Given the description of an element on the screen output the (x, y) to click on. 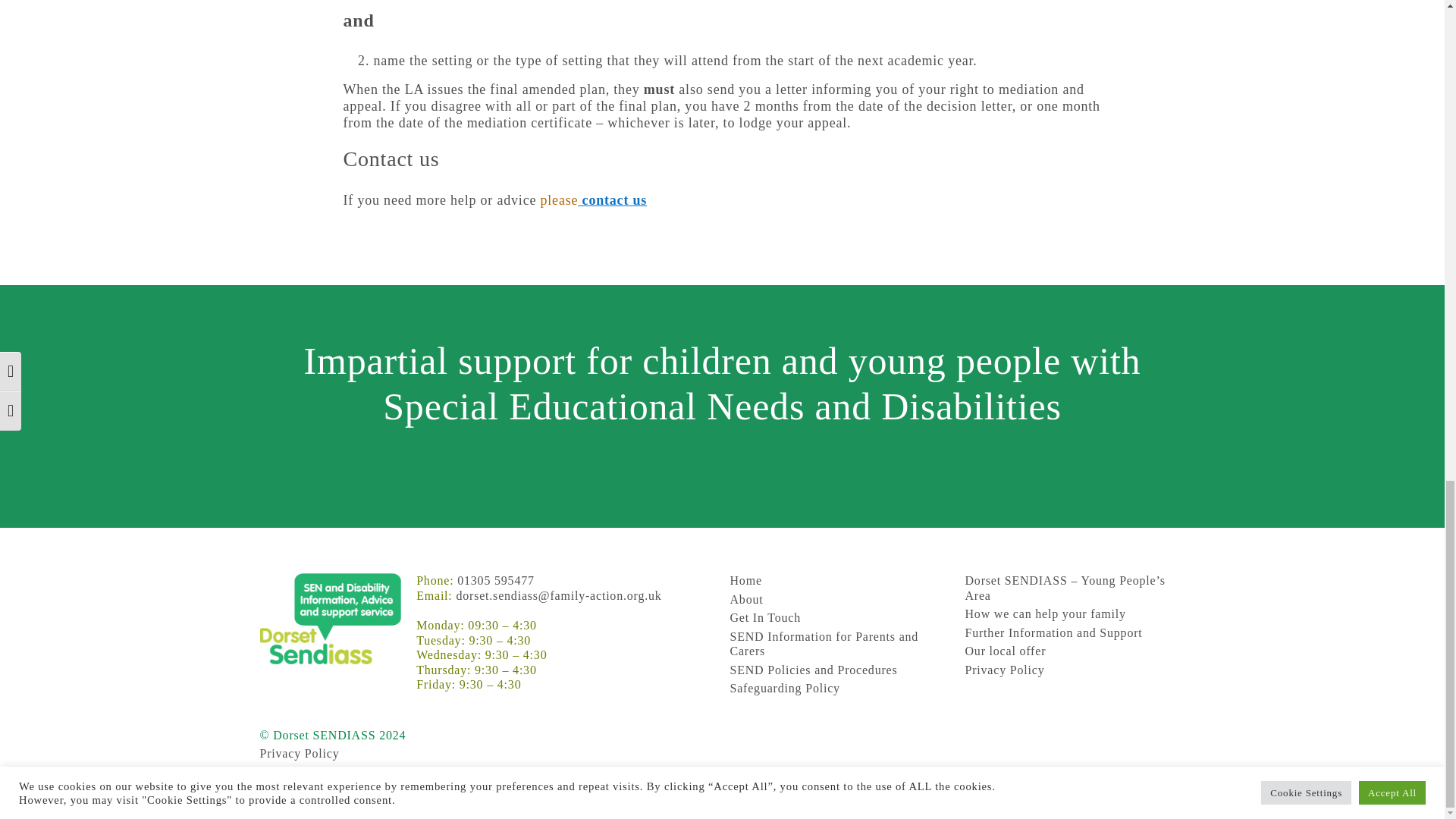
please contact us (593, 200)
